Given the description of an element on the screen output the (x, y) to click on. 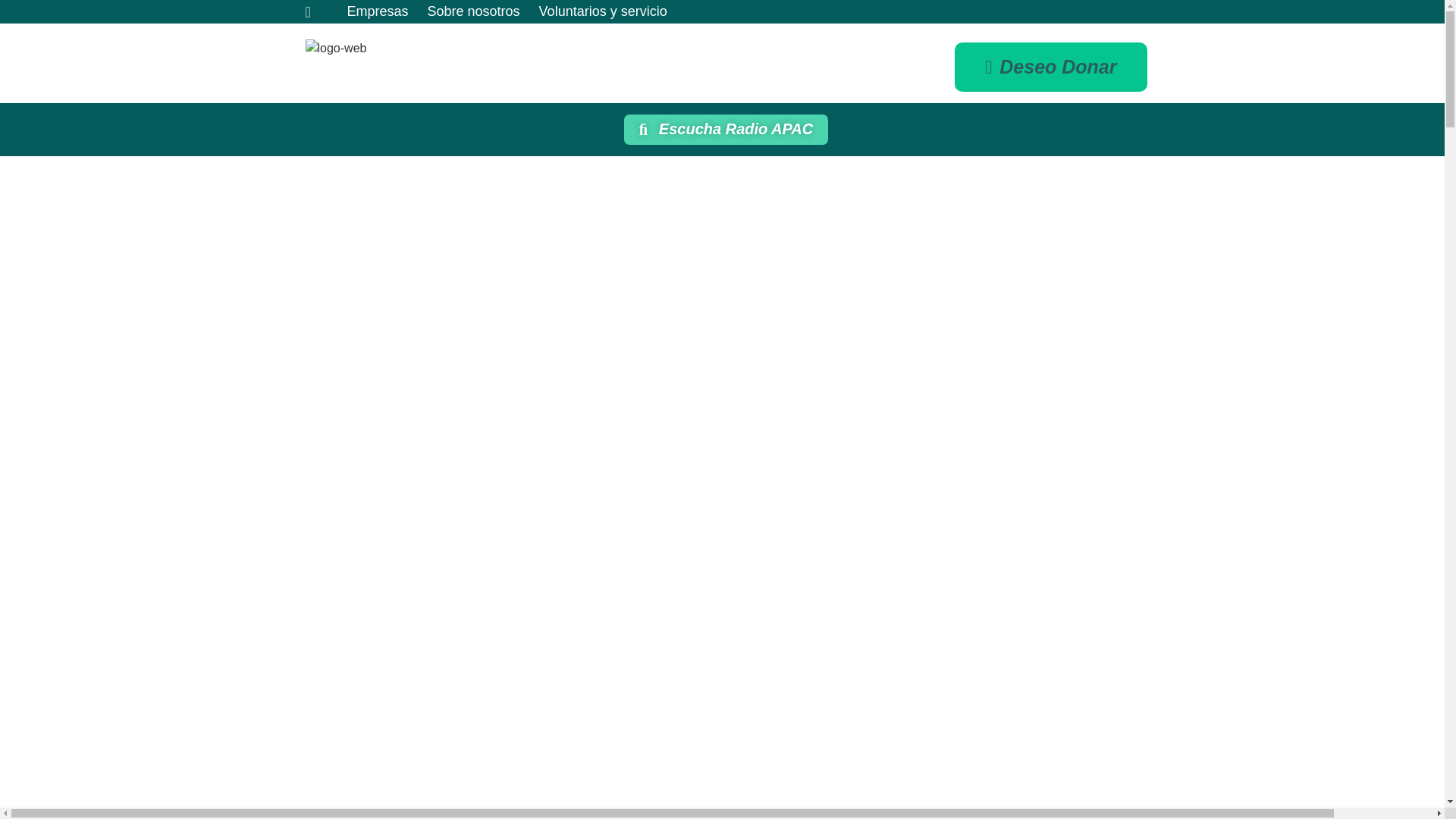
Escucha Radio APAC (726, 129)
Sobre nosotros (473, 11)
Voluntarios y servicio (602, 11)
Deseo Donar (1051, 66)
logo-web (335, 48)
Empresas (378, 11)
